Given the description of an element on the screen output the (x, y) to click on. 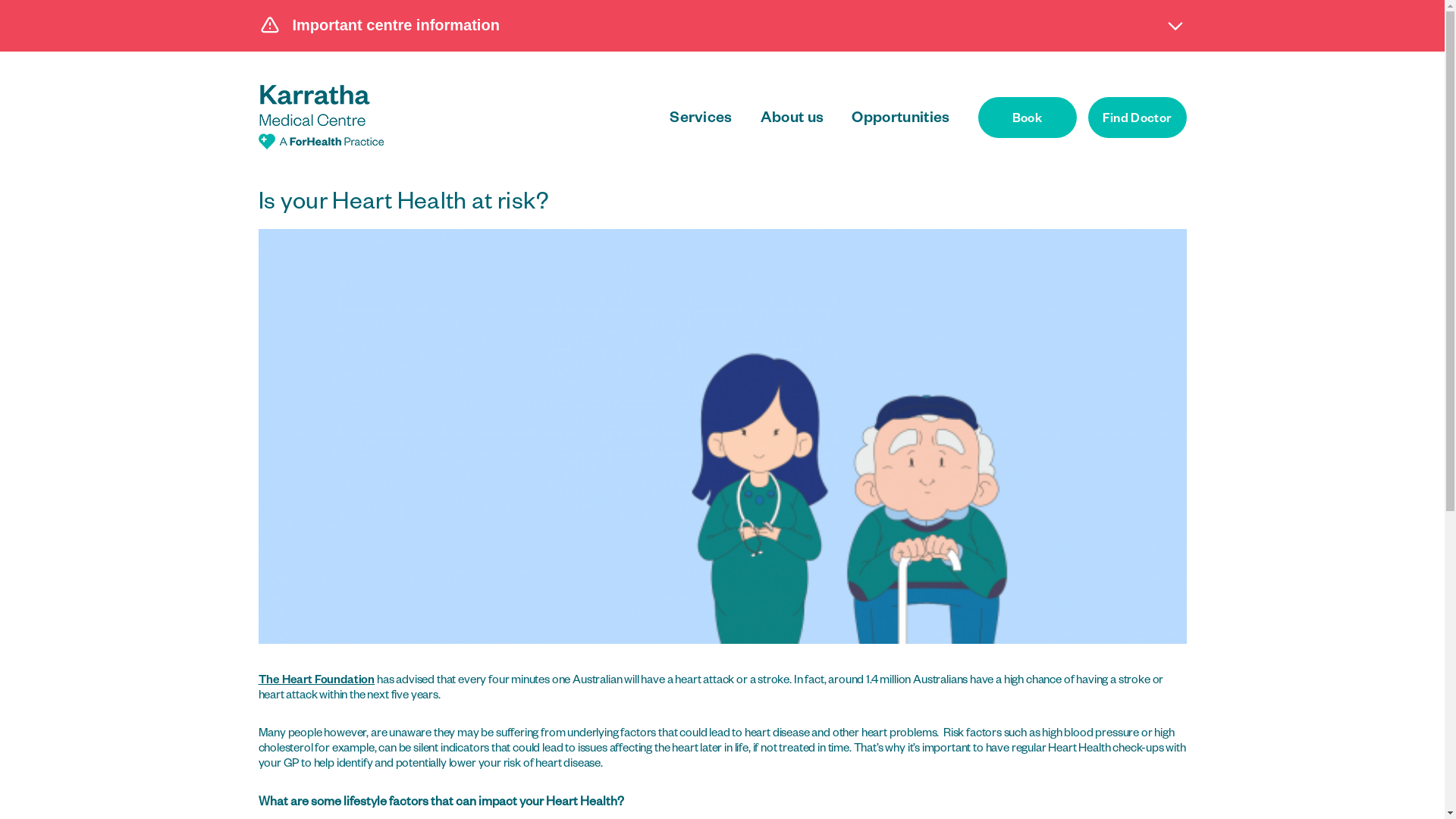
The Heart Foundation Element type: text (315, 680)
Find Doctor Element type: text (1136, 117)
Opportunities Element type: text (900, 119)
Karratha Medical Centre Element type: hover (319, 116)
Services Element type: text (700, 119)
Is your Heart Health at risk? Element type: hover (721, 436)
Important centre information Element type: text (722, 24)
About us Element type: text (792, 119)
Book Element type: text (1027, 117)
